Given the description of an element on the screen output the (x, y) to click on. 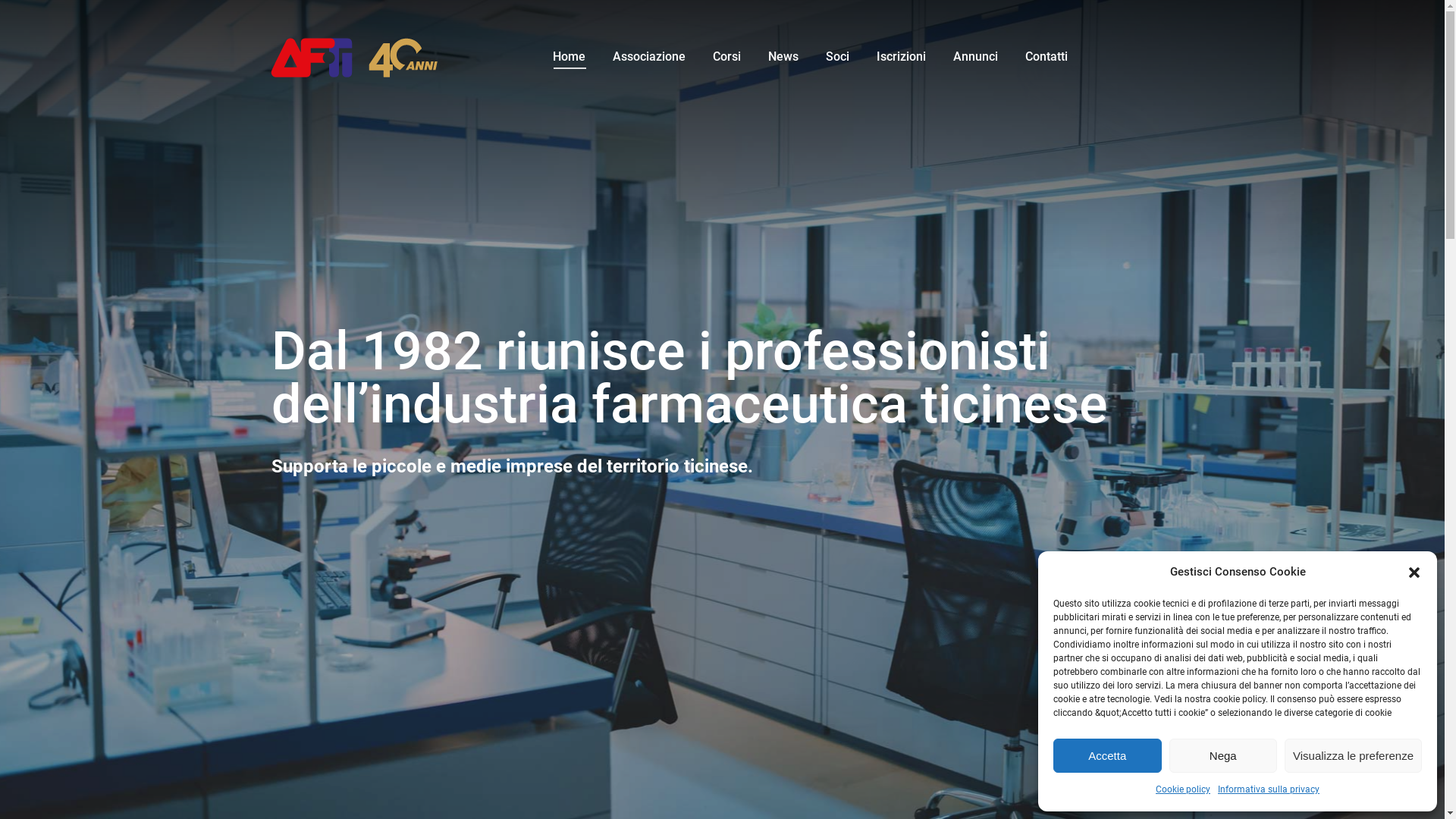
Informativa sulla privacy Element type: text (1268, 790)
Accetta Element type: text (1107, 755)
News Element type: text (783, 56)
Contatti Element type: text (1046, 56)
Nega Element type: text (1223, 755)
Associazione Element type: text (648, 56)
Iscrizioni Element type: text (900, 56)
Corsi Element type: text (726, 56)
Visualizza le preferenze Element type: text (1352, 755)
Annunci Element type: text (975, 56)
Home Element type: text (568, 56)
Cookie policy Element type: text (1182, 790)
Soci Element type: text (837, 56)
